Given the description of an element on the screen output the (x, y) to click on. 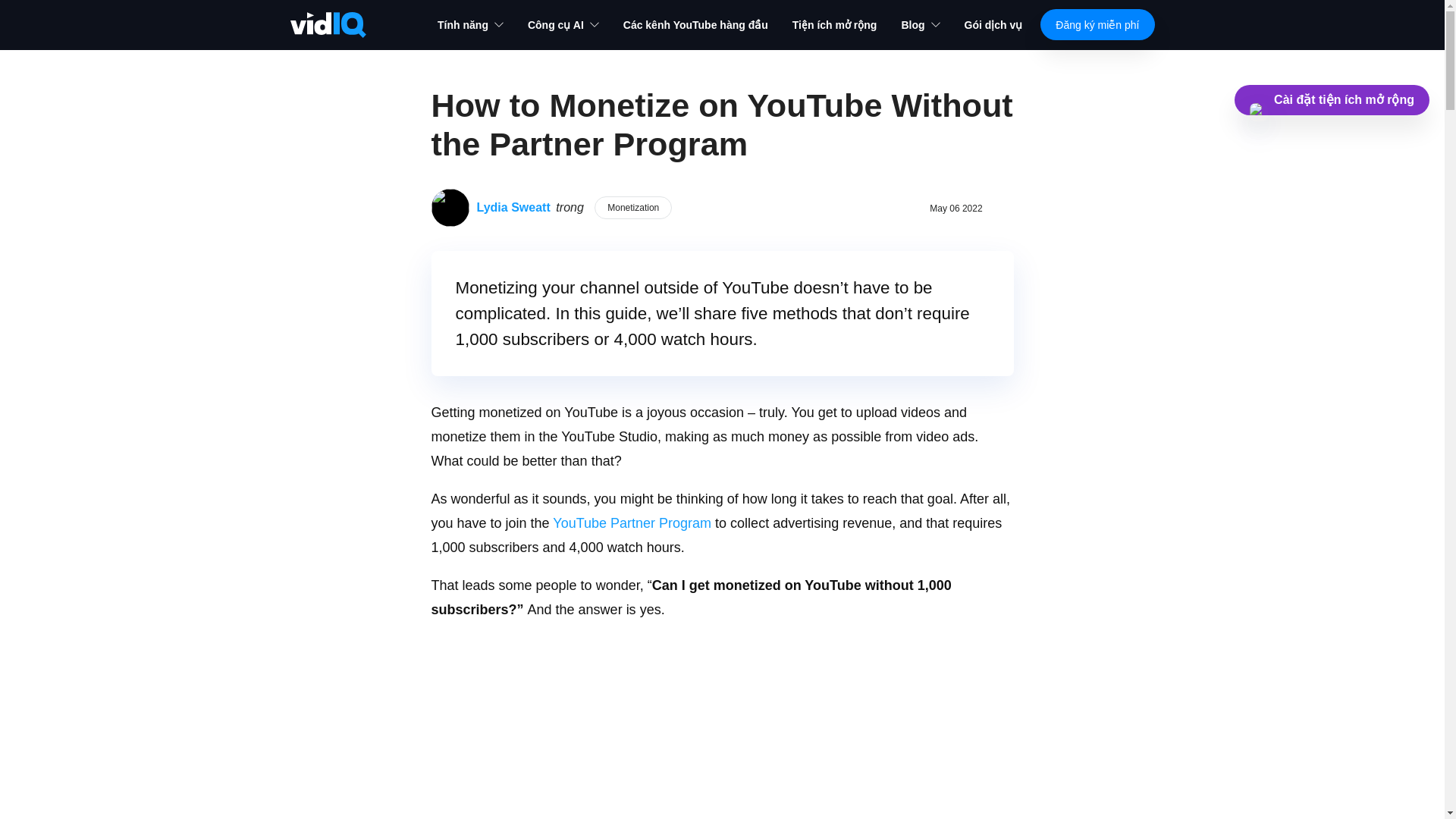
Blog (920, 24)
